Given the description of an element on the screen output the (x, y) to click on. 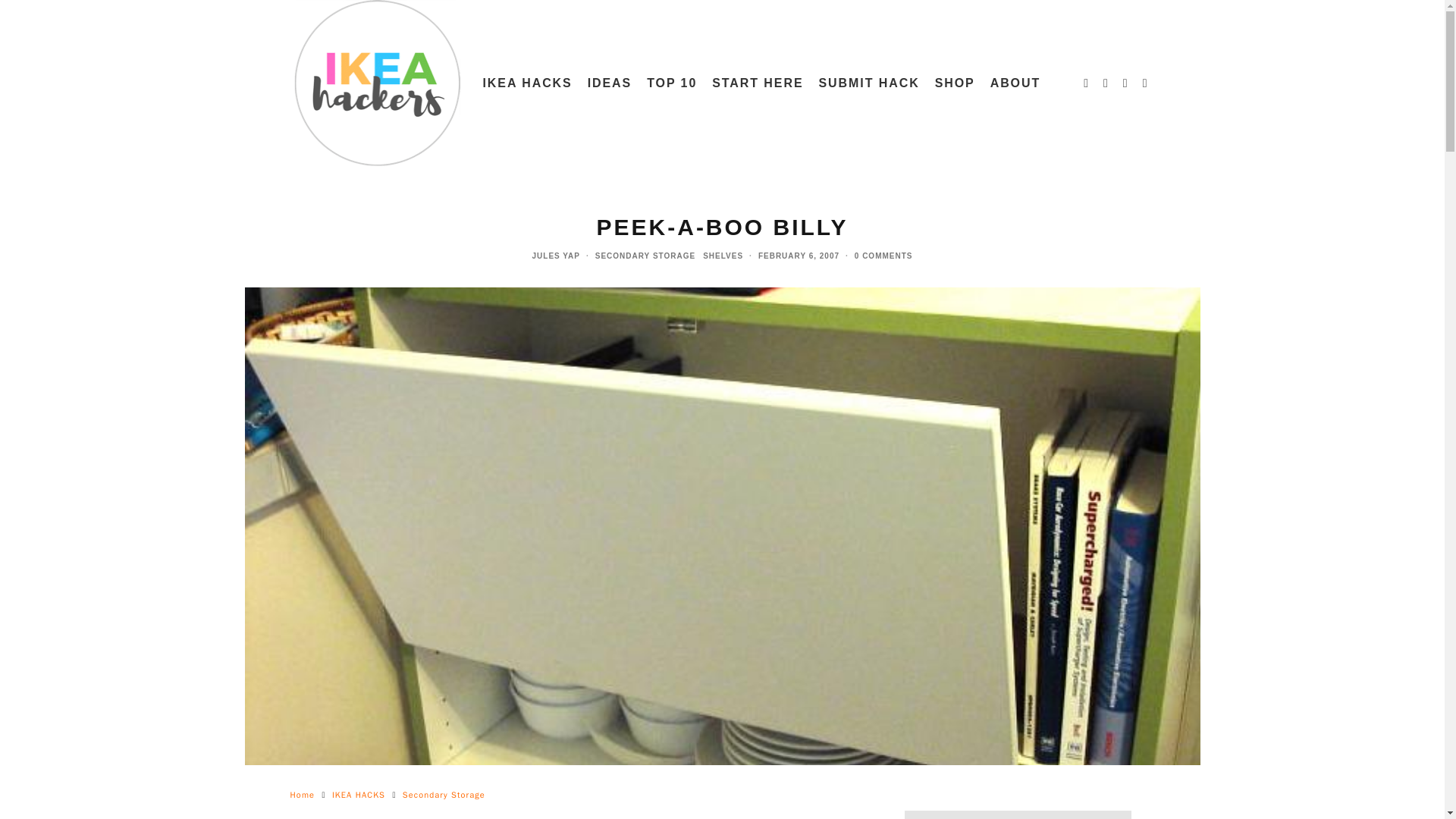
TOP 10 (671, 83)
START HERE (757, 83)
SHELVES (722, 255)
IKEA Hacks by Categories (526, 83)
ABOUT (1015, 83)
Secondary Storage (443, 794)
IKEA Ideas by Categories (609, 83)
IDEAS (609, 83)
More about IKEA Hackers (1015, 83)
SECONDARY STORAGE (645, 255)
How to send in your hack (868, 83)
IKEA HACKS (526, 83)
SUBMIT HACK (868, 83)
JULES YAP (555, 255)
